Given the description of an element on the screen output the (x, y) to click on. 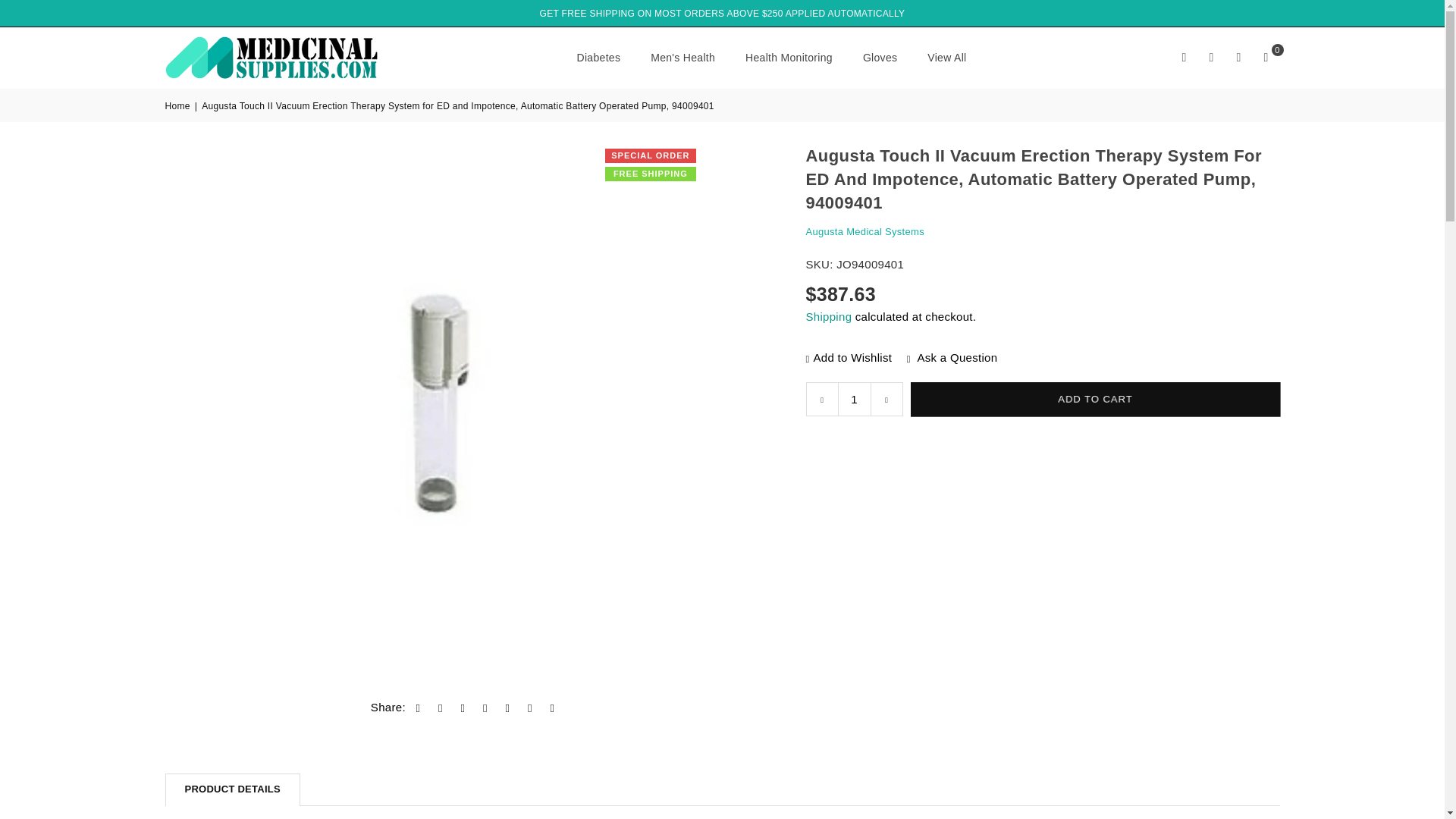
Diabetes (598, 56)
Gloves (879, 56)
Men's Health (682, 56)
1 (854, 399)
Quantity (853, 399)
Cart (1265, 57)
View All (945, 56)
Settings (1211, 57)
Wishlist (1238, 57)
Search (1184, 57)
Health Monitoring (788, 56)
Back to the home page (178, 106)
